Given the description of an element on the screen output the (x, y) to click on. 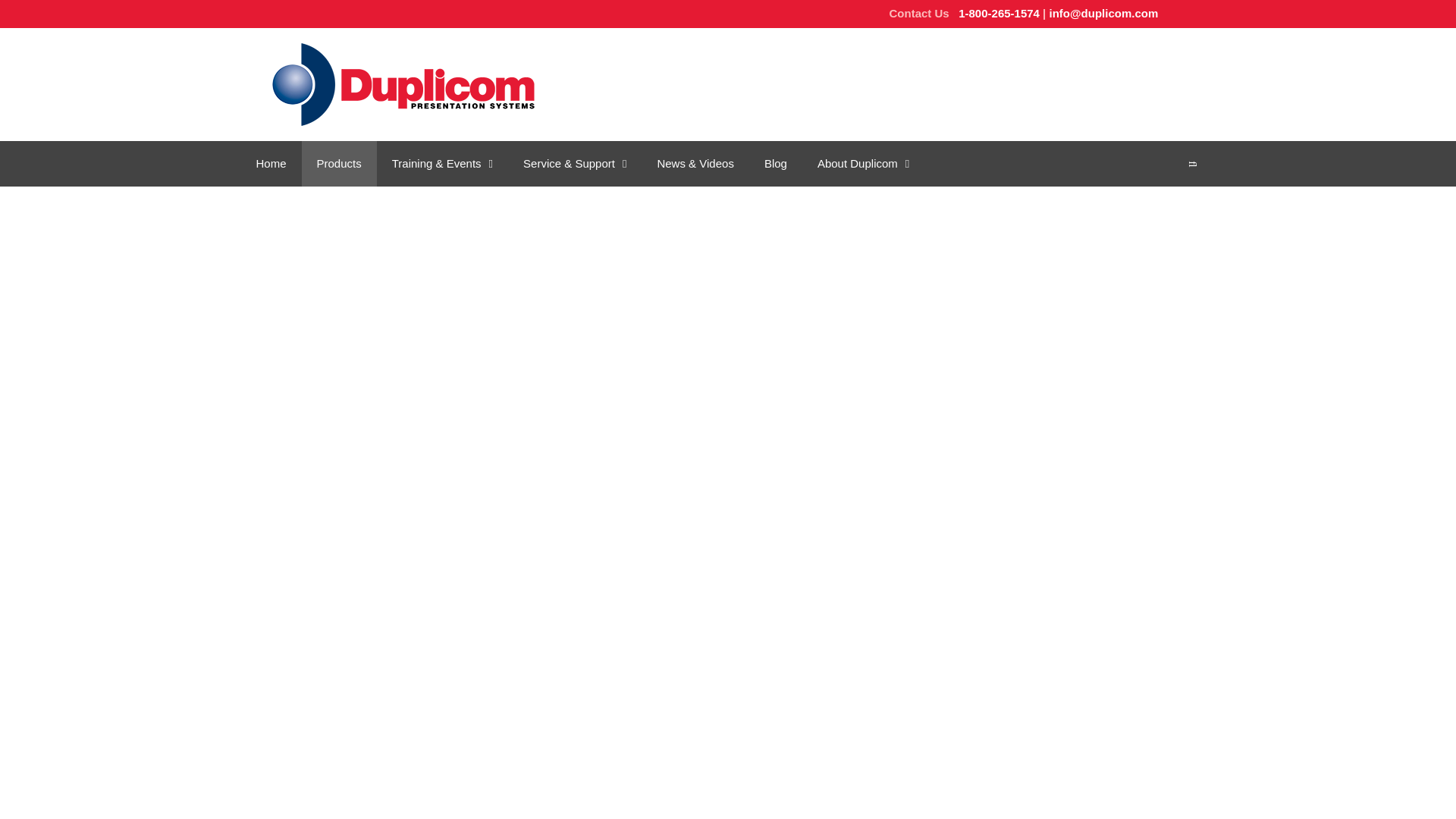
Duplicom Presentation Systems (403, 83)
Duplicom Presentation Systems (403, 83)
